Given the description of an element on the screen output the (x, y) to click on. 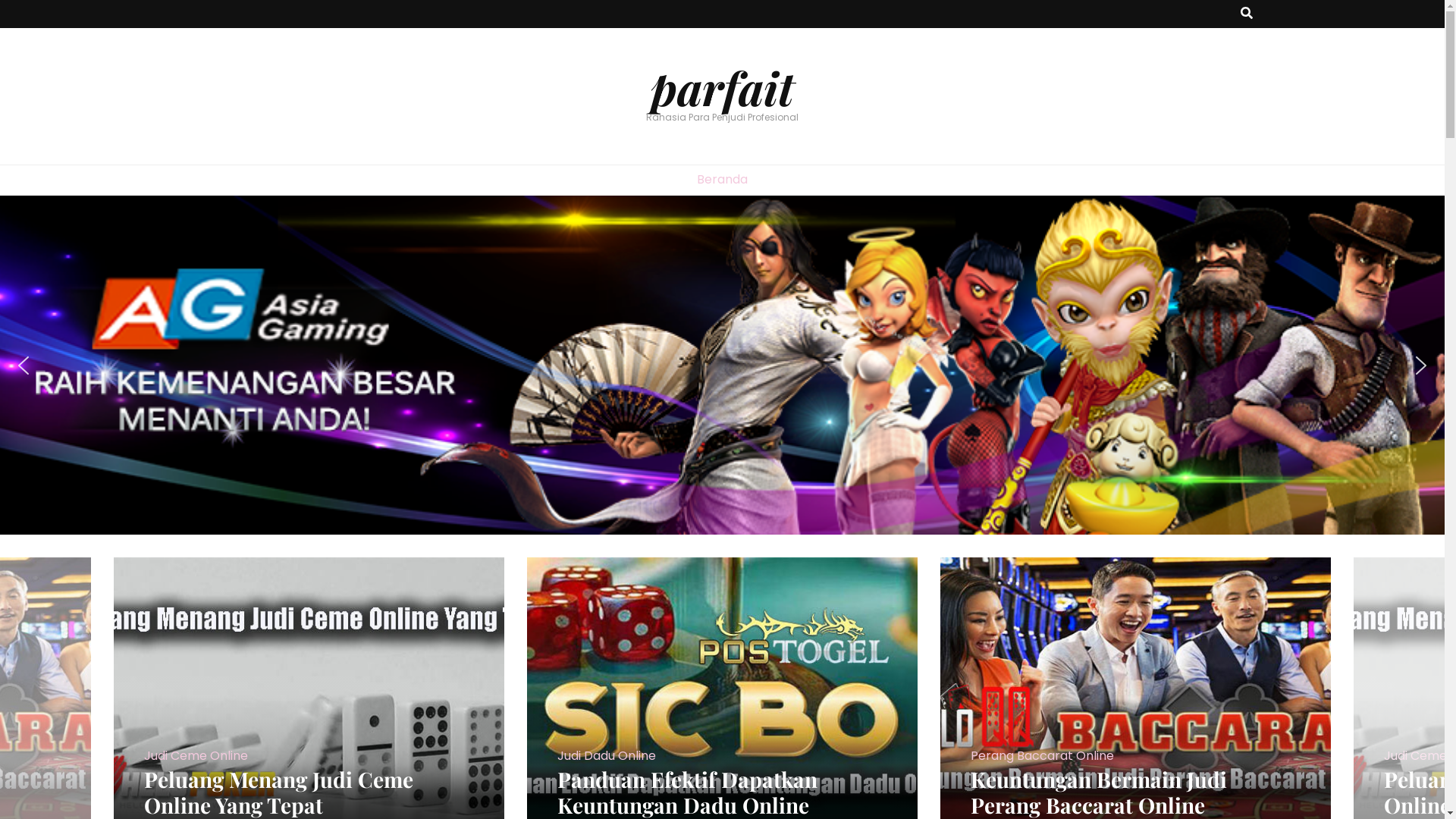
parfait Element type: text (721, 86)
Judi Ceme Online Element type: text (195, 756)
Judi Dadu Online Element type: text (606, 756)
Beranda Element type: text (721, 179)
Perang Baccarat Online Element type: text (1041, 756)
